Given the description of an element on the screen output the (x, y) to click on. 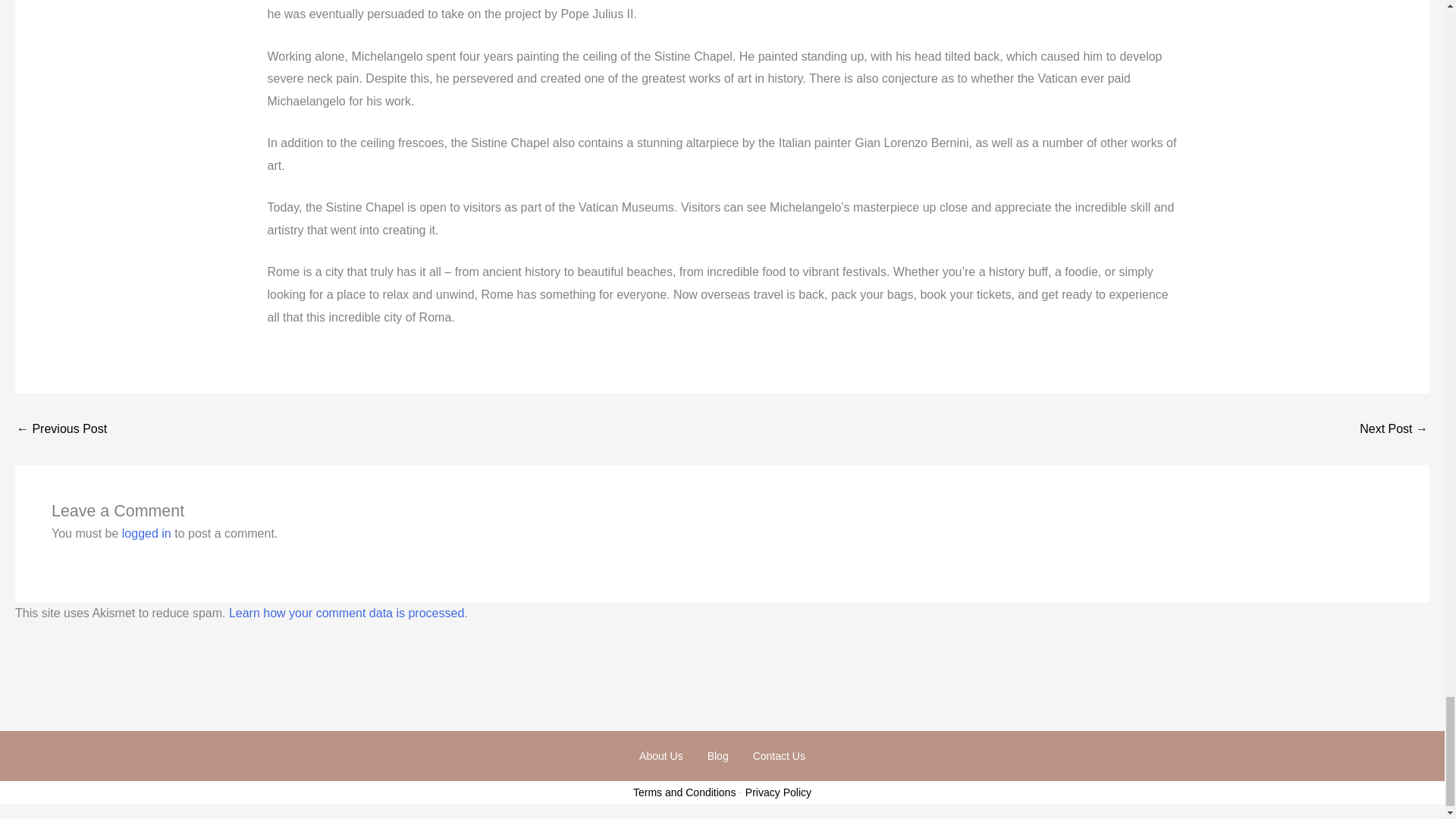
Privacy Policy (777, 792)
11 Top Gardens You Must Visit in Paris (61, 428)
About Us (661, 755)
Terms and Conditions (684, 792)
20 Top Tips When Traveling (1393, 428)
Learn how your comment data is processed (346, 612)
Contact Us (778, 755)
Blog (718, 755)
logged in (146, 533)
